Given the description of an element on the screen output the (x, y) to click on. 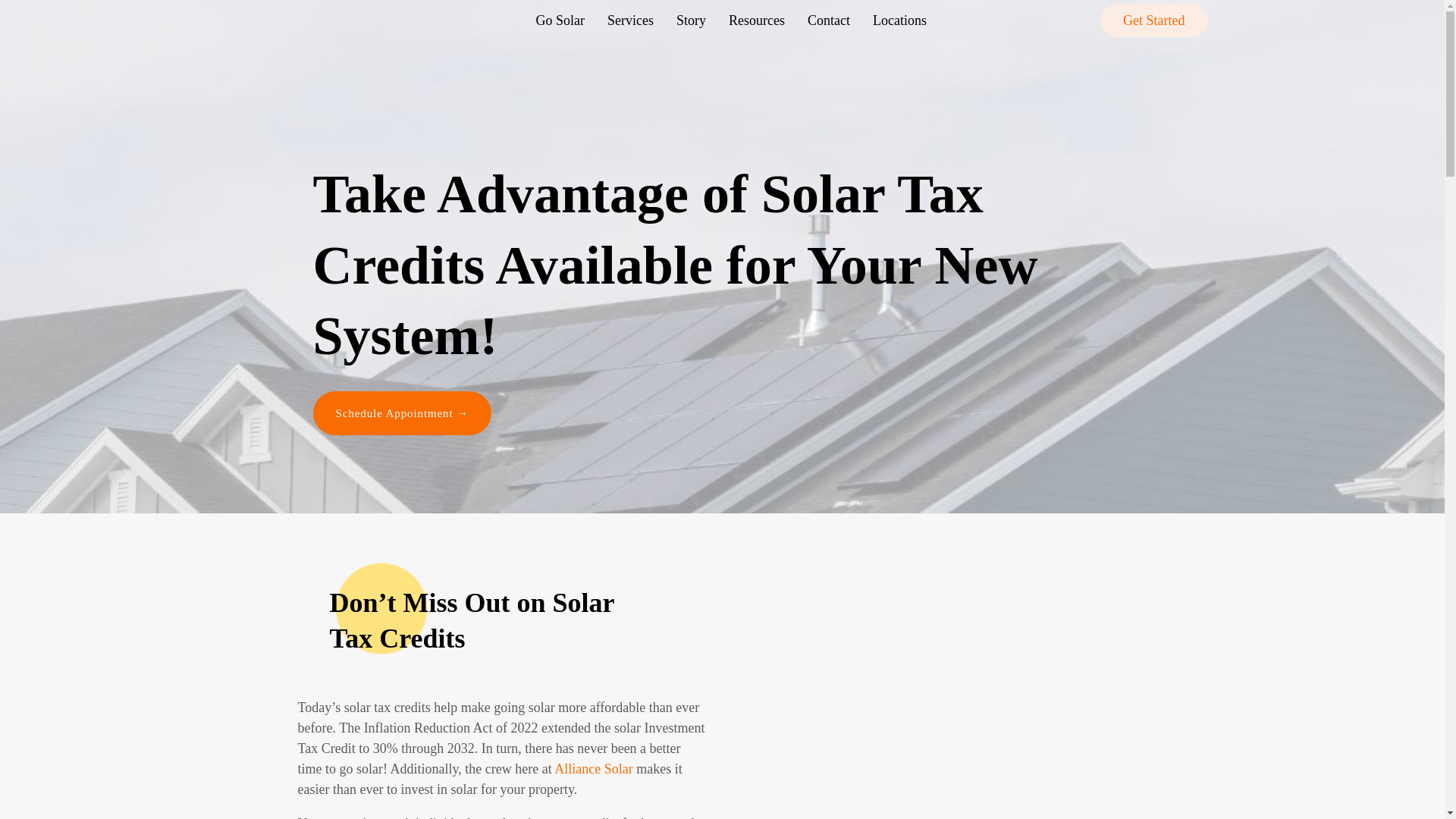
Get Started (1153, 20)
Go Solar (560, 20)
Story (691, 20)
Alliance Solar (592, 768)
Services (630, 20)
Resources (756, 20)
Locations (899, 20)
Contact (828, 20)
